Given the description of an element on the screen output the (x, y) to click on. 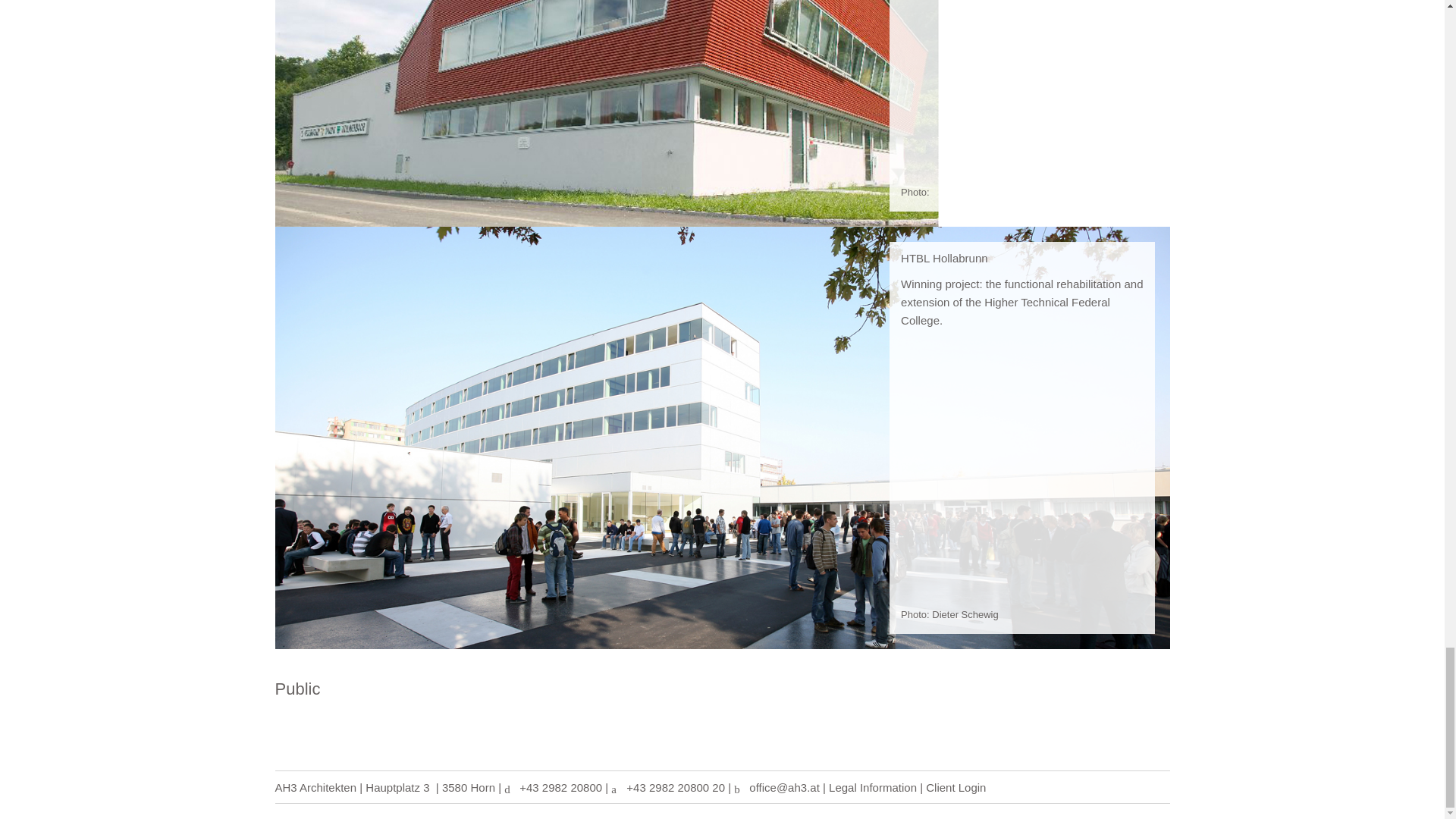
Send us an email (784, 787)
Client Login (955, 787)
AH3 Architekten (315, 787)
Legal Information (872, 787)
AH3 Architekten, 3580 Horn (315, 787)
